Given the description of an element on the screen output the (x, y) to click on. 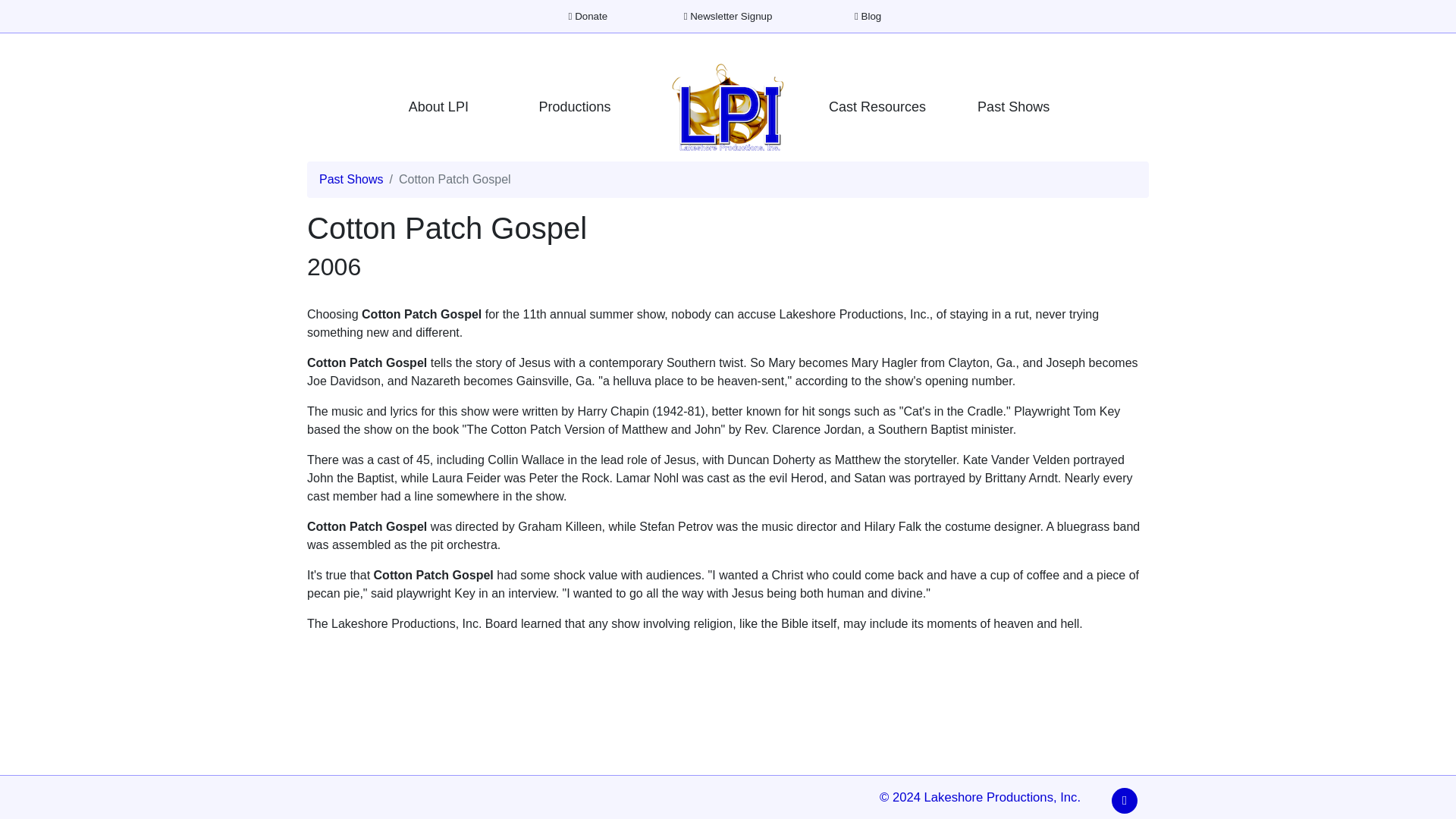
Go to the Home Page (727, 106)
Go to the About LPI page (437, 106)
Go to the Productions page (574, 106)
Blog (867, 16)
Past Shows (350, 178)
About LPI (437, 106)
Productions (574, 106)
Go to the Past Shows page (1012, 106)
Newsletter Signup (727, 16)
Cast Resources (876, 106)
